Given the description of an element on the screen output the (x, y) to click on. 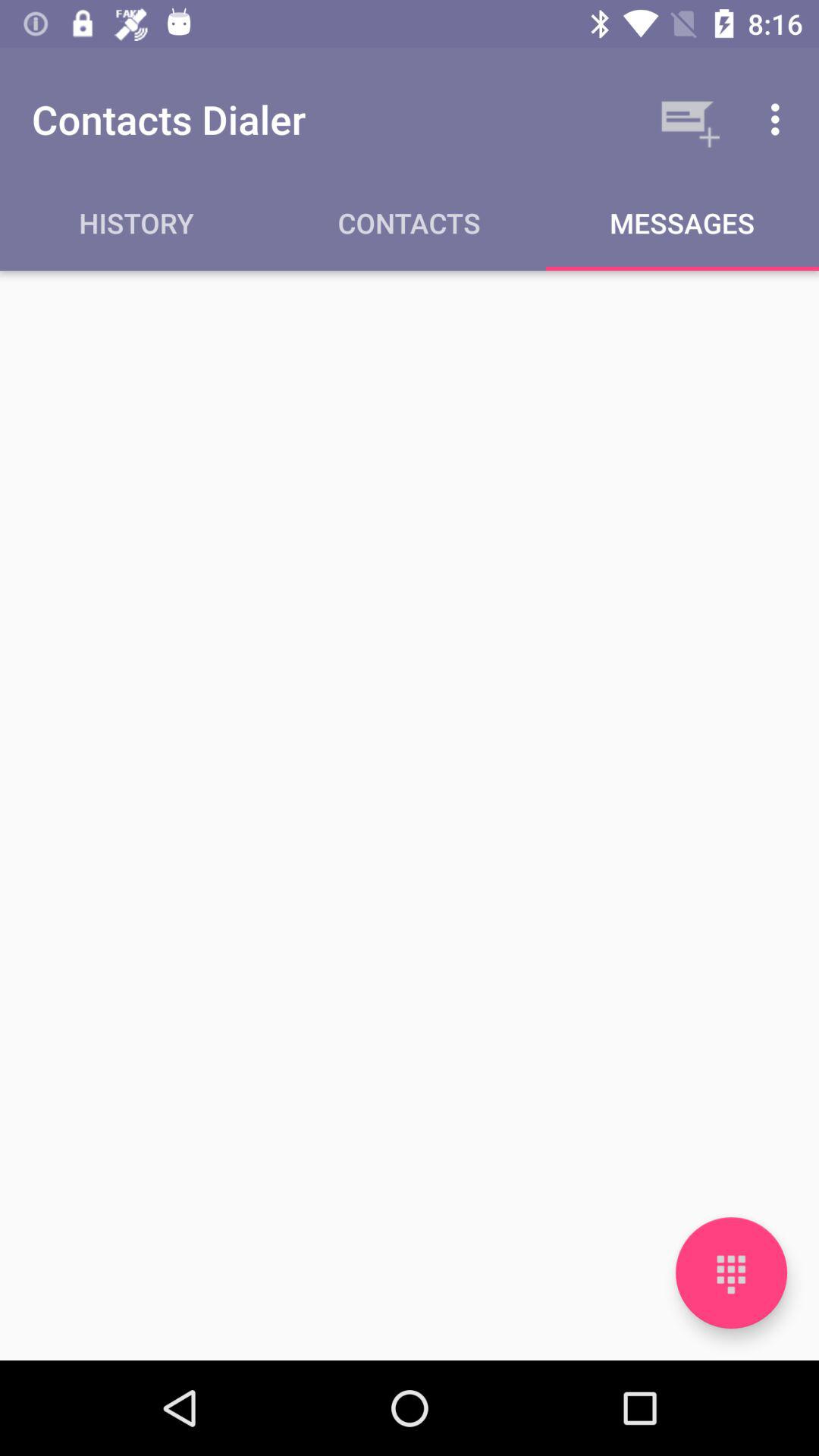
turn on app next to the contacts dialer item (687, 119)
